Given the description of an element on the screen output the (x, y) to click on. 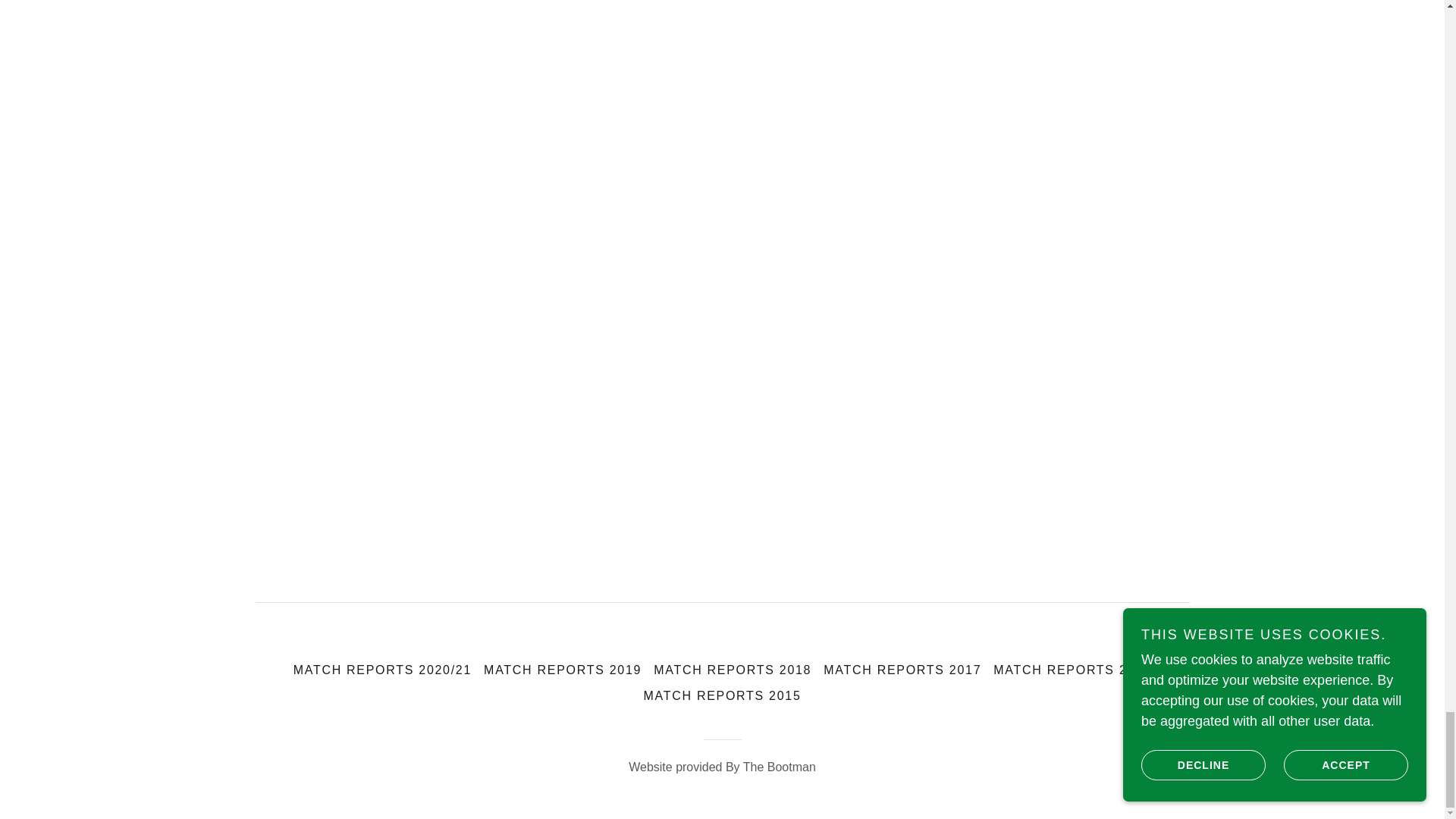
MATCH REPORTS 2018 (731, 670)
MATCH REPORTS 2016 (1072, 670)
MATCH REPORTS 2019 (562, 670)
MATCH REPORTS 2017 (901, 670)
